Given the description of an element on the screen output the (x, y) to click on. 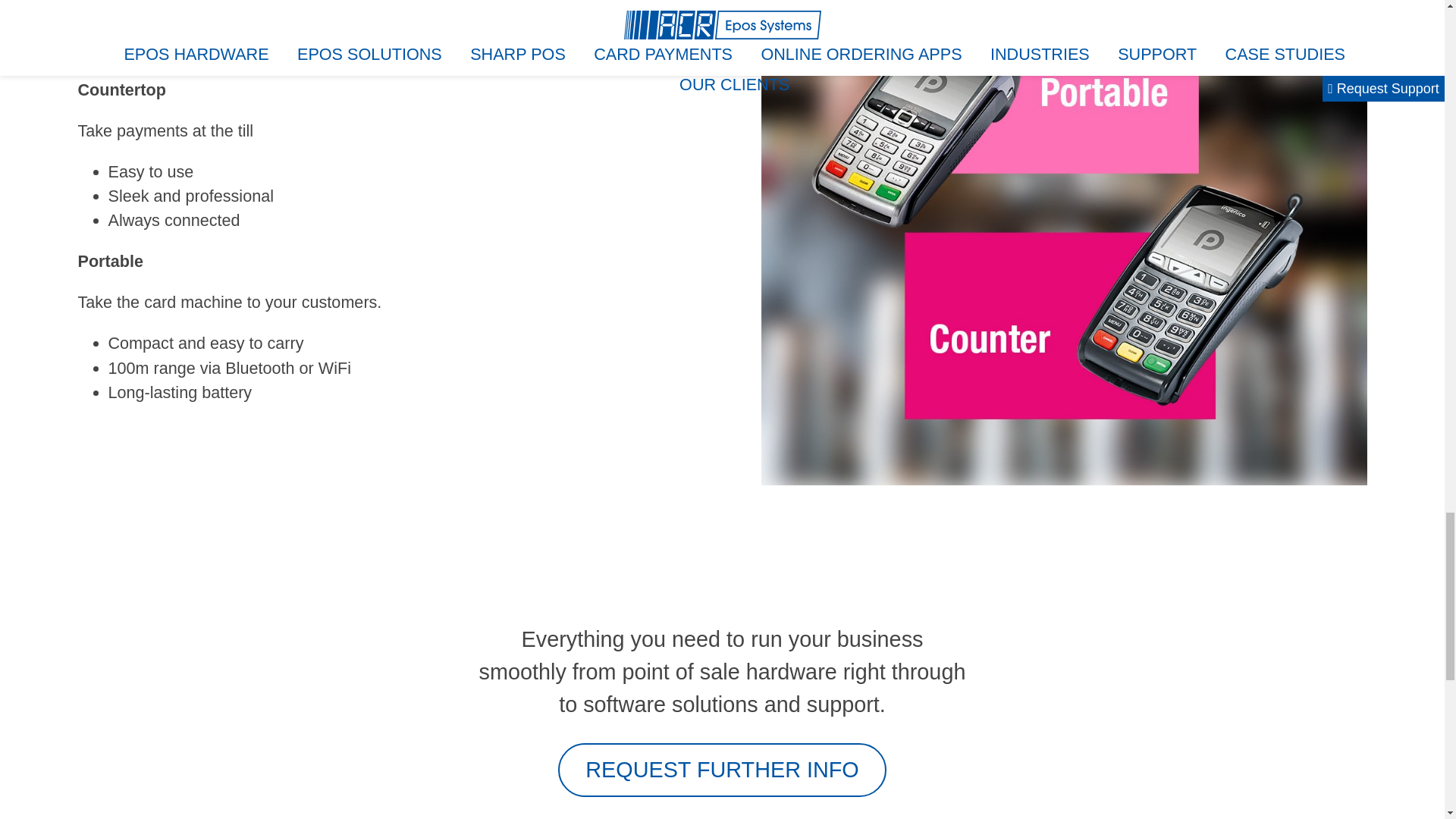
REQUEST FURTHER INFO (721, 769)
